Given the description of an element on the screen output the (x, y) to click on. 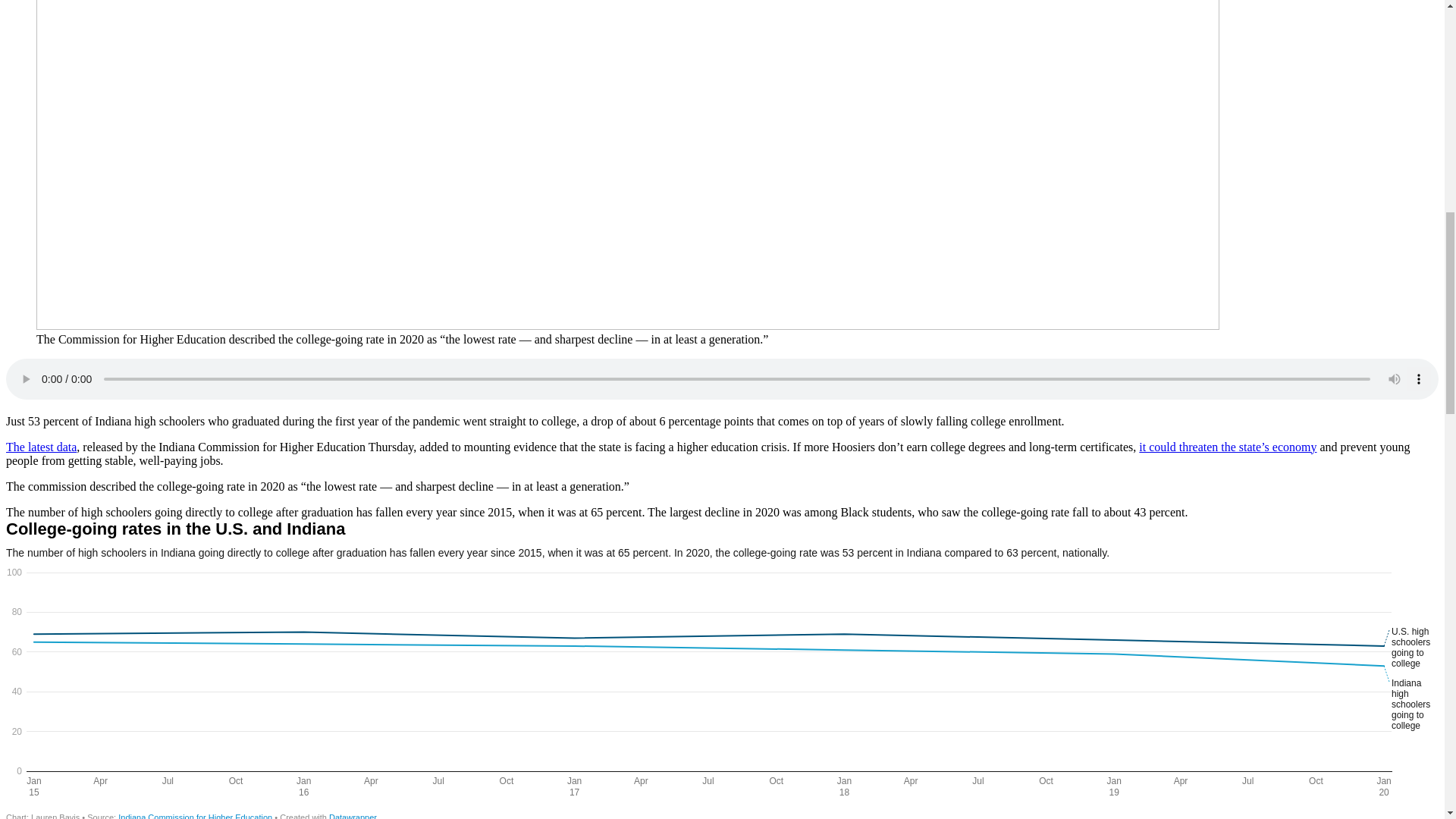
The latest data (41, 446)
